Given the description of an element on the screen output the (x, y) to click on. 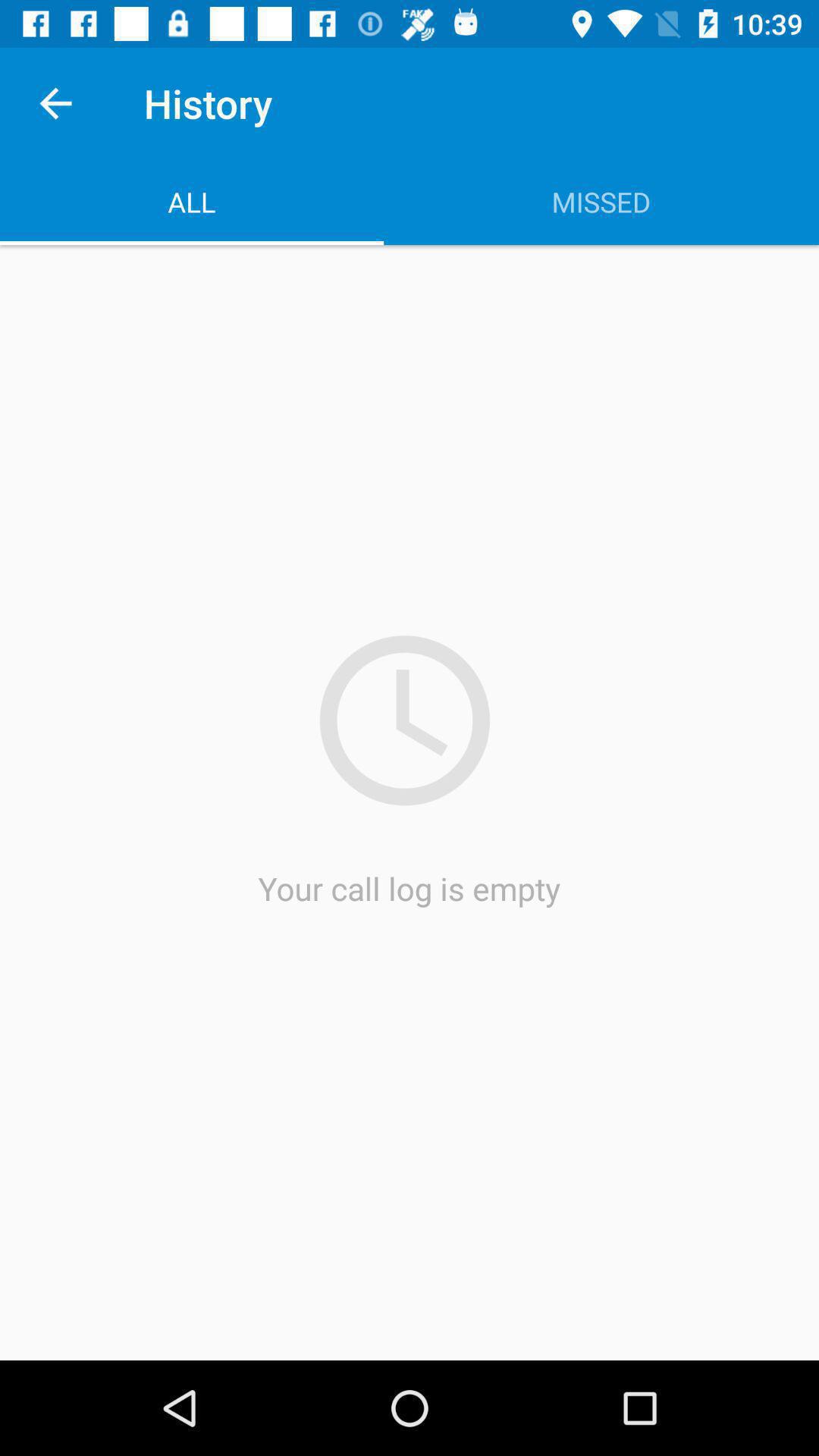
click the icon to the left of the missed (191, 202)
